Given the description of an element on the screen output the (x, y) to click on. 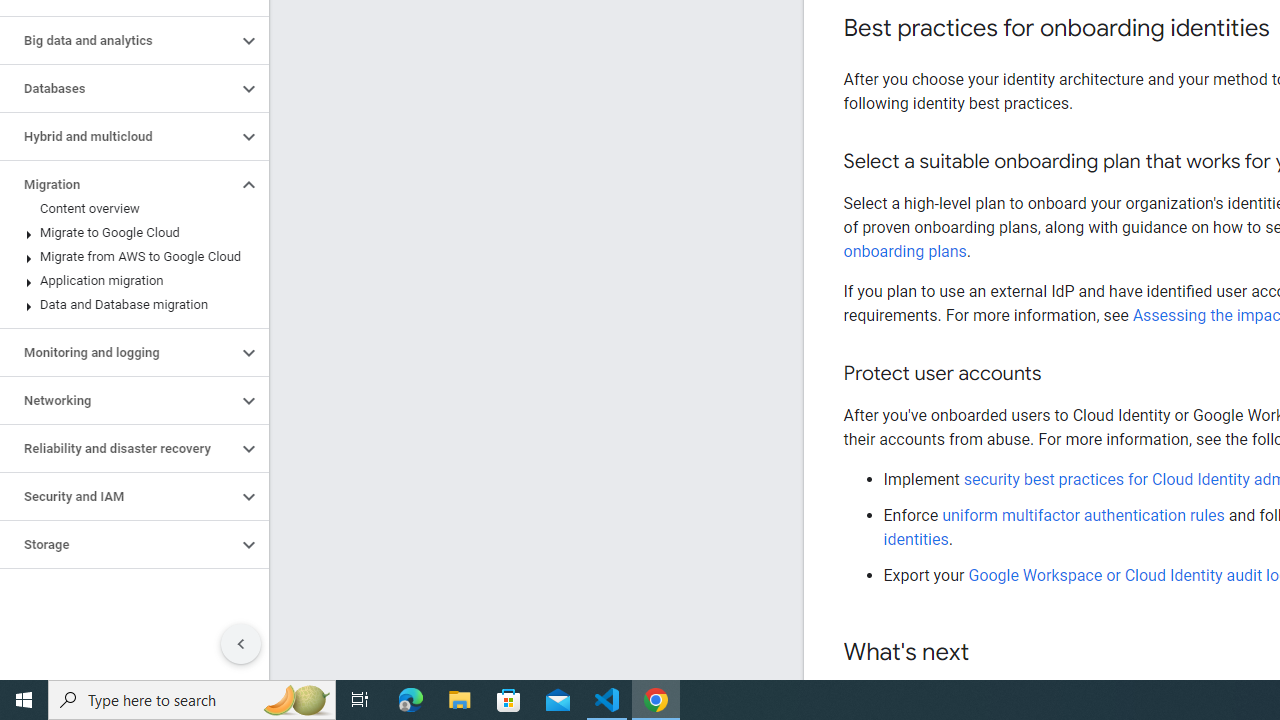
Migrate to Google Cloud (130, 232)
Big data and analytics (118, 40)
Databases (118, 88)
Networking (118, 400)
Content overview (130, 209)
Hide side navigation (241, 643)
Application migration (130, 281)
Migrate from AWS to Google Cloud (130, 256)
Reliability and disaster recovery (118, 448)
Security and IAM (118, 497)
Monitoring and logging (118, 353)
Data and Database migration (130, 304)
Hybrid and multicloud (118, 137)
Copy link to this section: Protect user accounts (1060, 374)
